Given the description of an element on the screen output the (x, y) to click on. 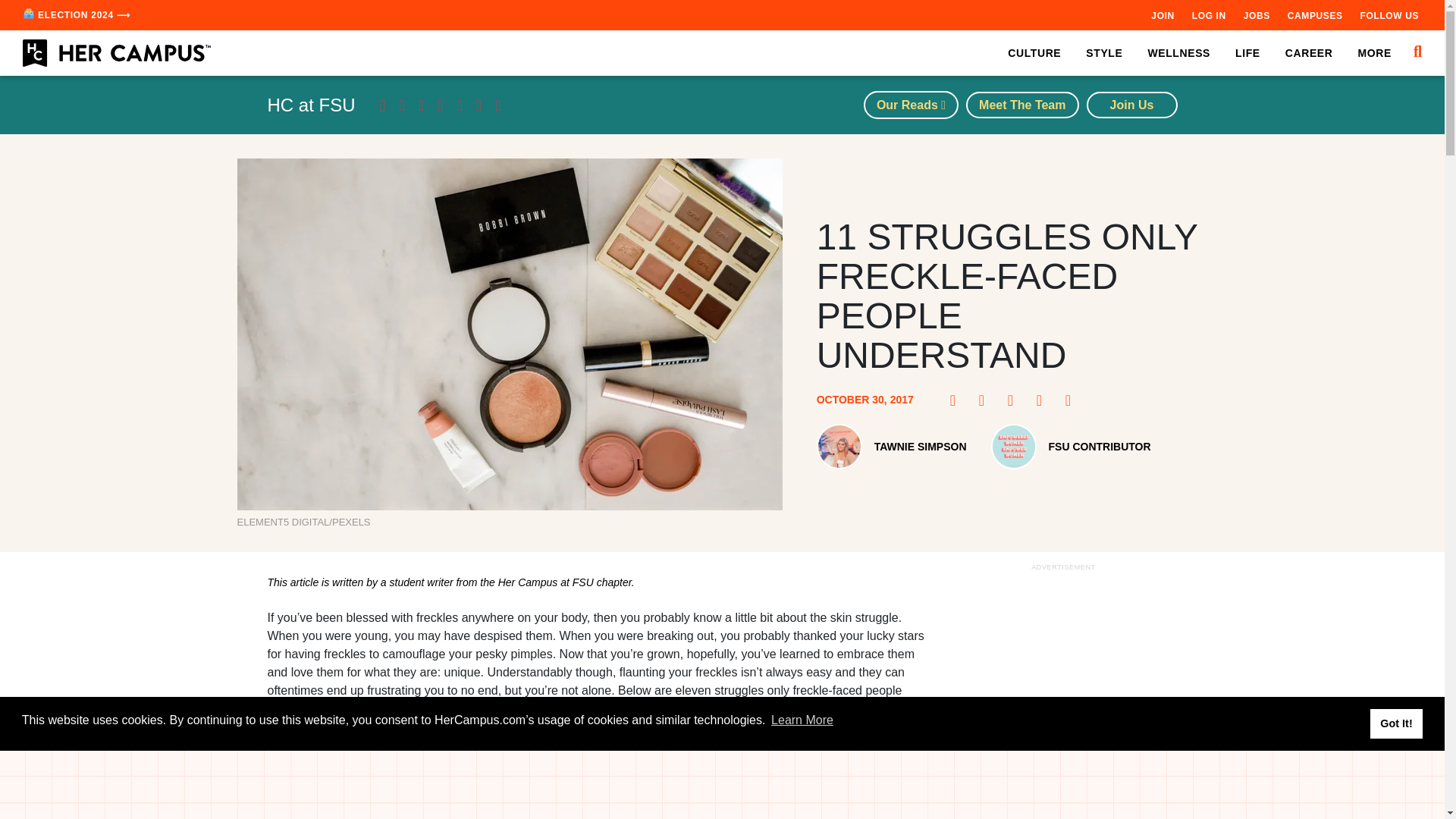
LOG IN (1208, 15)
CAMPUSES (1314, 15)
JOIN (1162, 15)
3rd party ad content (721, 785)
Pinterest (986, 400)
JOBS (1256, 15)
Facebook (957, 400)
LinkedIn (1043, 400)
3rd party ad content (1062, 696)
Got It! (1396, 723)
Email (1072, 400)
3rd party ad content (597, 770)
Twitter (1015, 400)
